Given the description of an element on the screen output the (x, y) to click on. 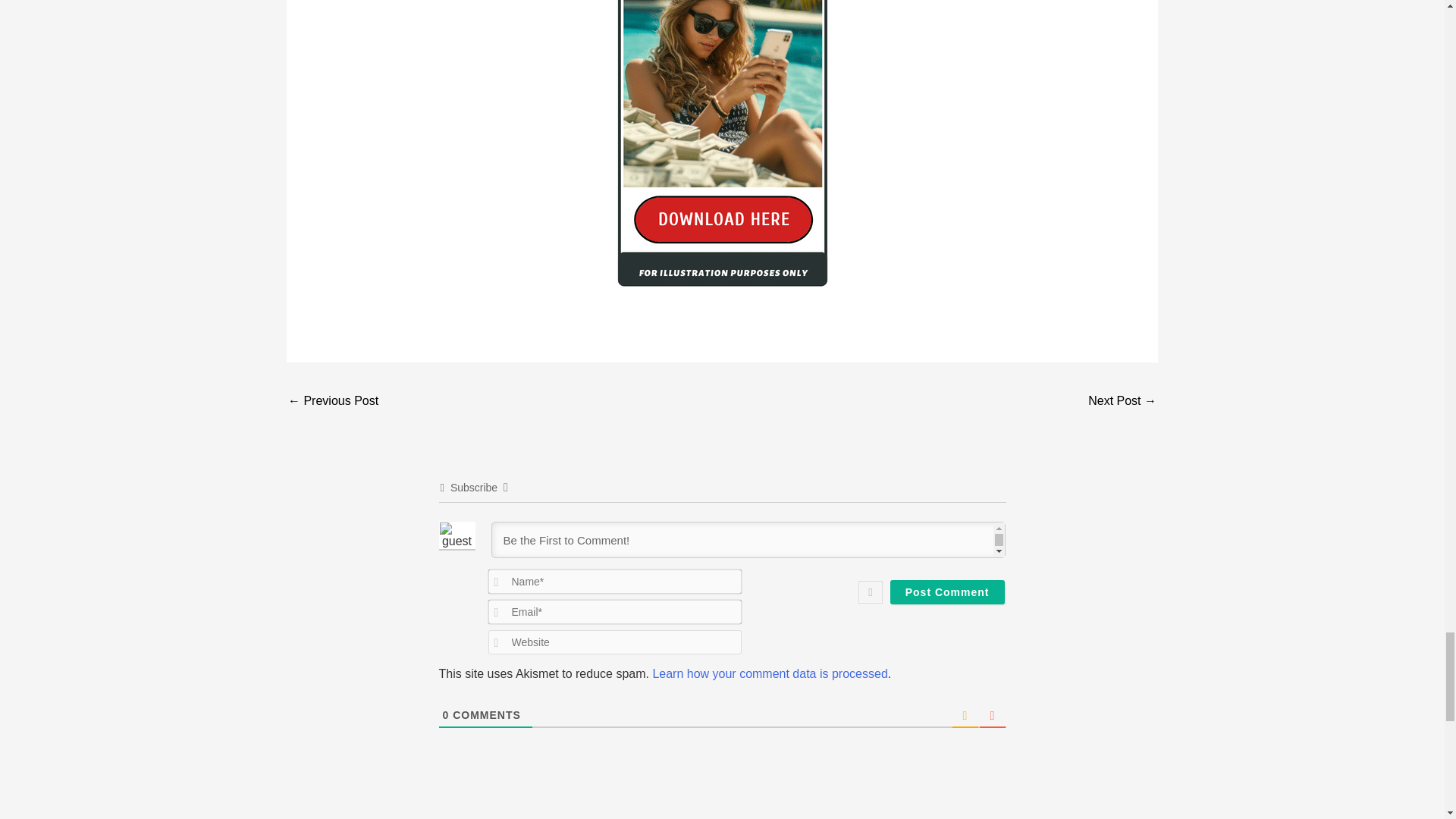
Post Comment (946, 591)
Learn how your comment data is processed (769, 673)
Post Comment (946, 591)
